Given the description of an element on the screen output the (x, y) to click on. 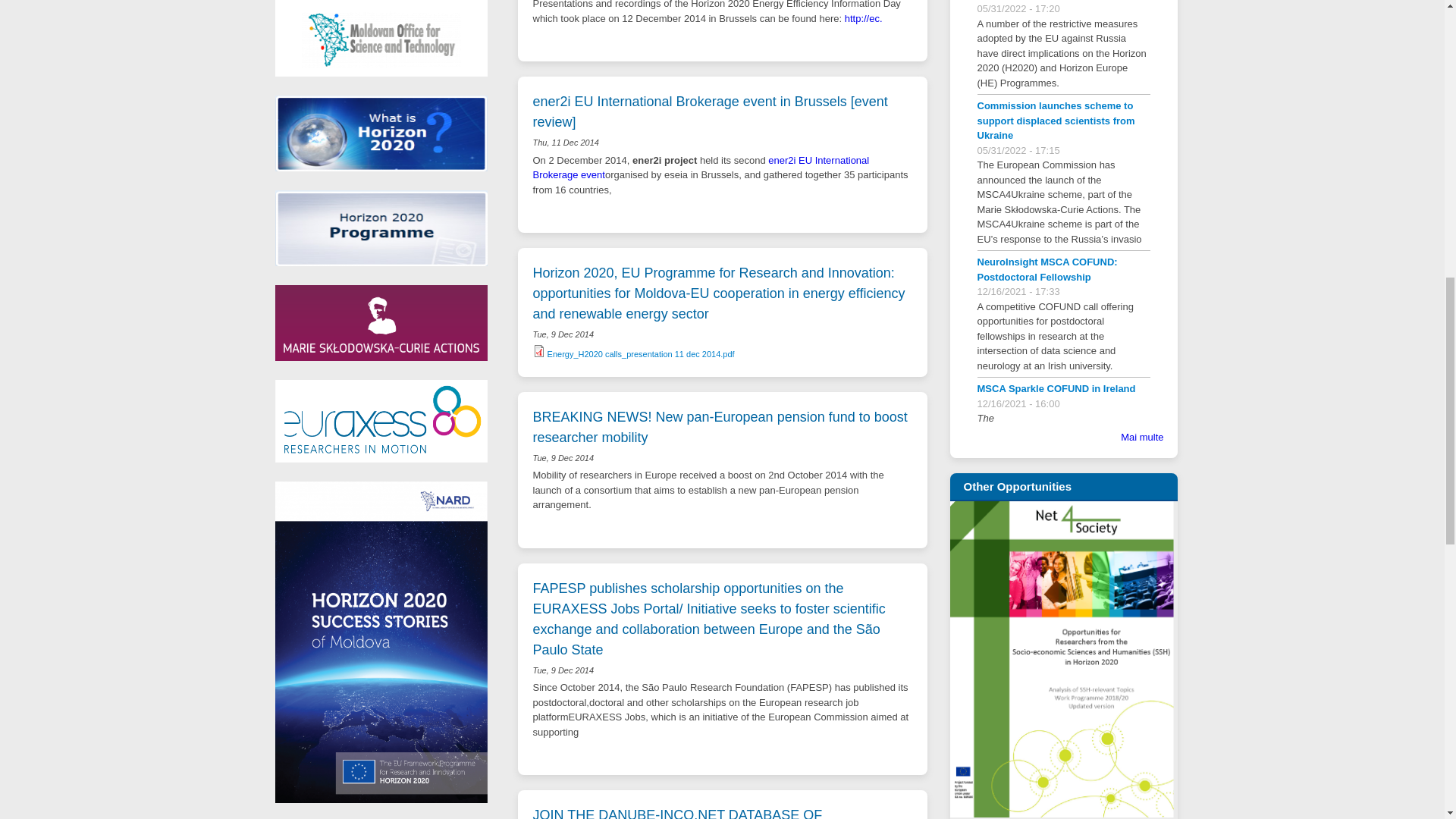
ener2i EU International Brokerage event (700, 167)
